Given the description of an element on the screen output the (x, y) to click on. 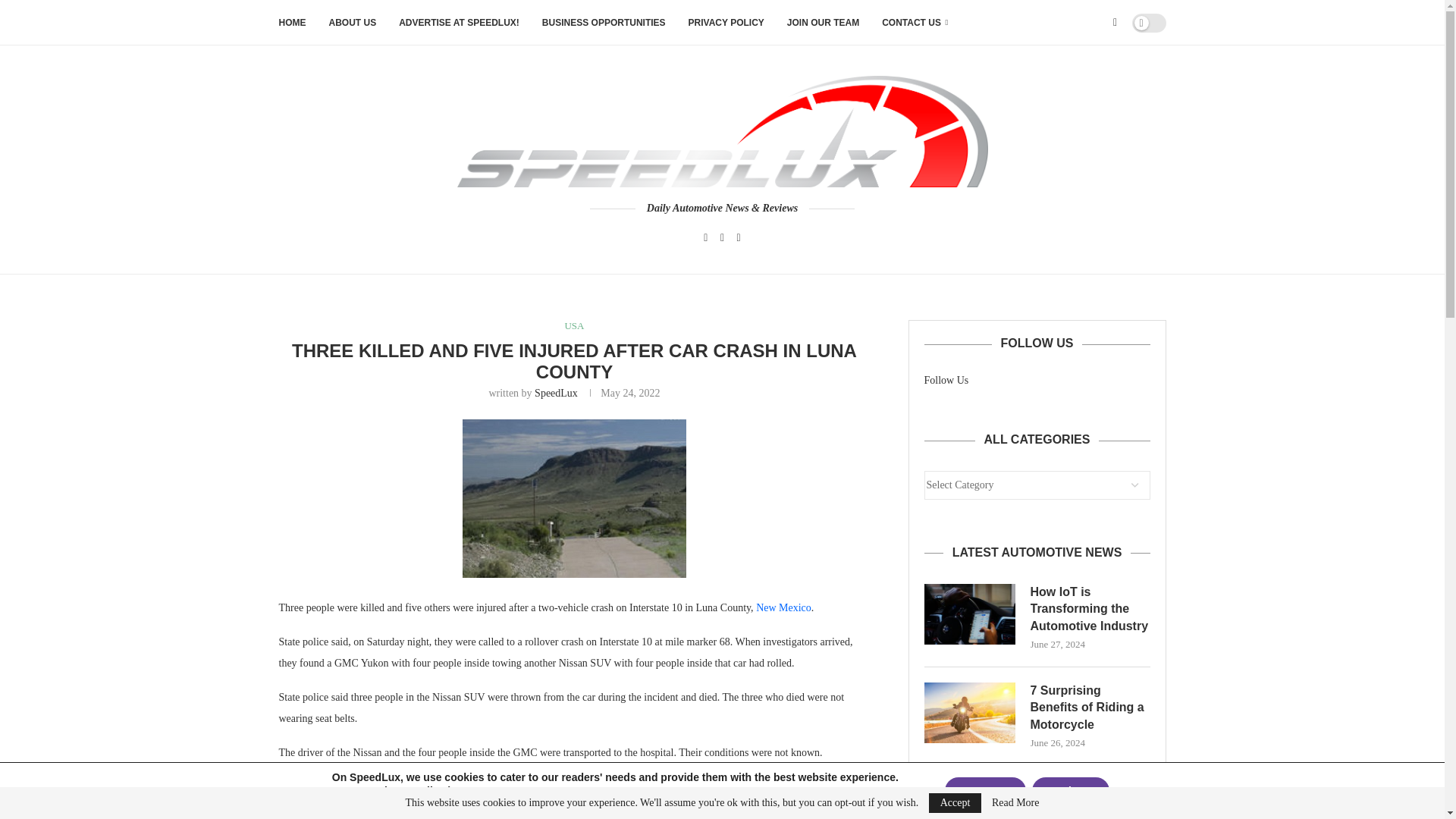
USA (573, 326)
CAR ACCIDENTS IN THE US (462, 809)
CONTACT US (915, 22)
ABOUT US (353, 22)
LUNA COUNTY (657, 809)
luna-county-new-mexico (574, 498)
INTERSTATE 10 (571, 809)
SpeedLux (556, 392)
PRIVACY POLICY (726, 22)
ADVERTISE AT SPEEDLUX! (458, 22)
New Mexico (782, 607)
BUSINESS OPPORTUNITIES (603, 22)
JOIN OUR TEAM (823, 22)
CAR ACCIDENTS IN 2022 (336, 809)
NEW MEXICO (739, 809)
